Given the description of an element on the screen output the (x, y) to click on. 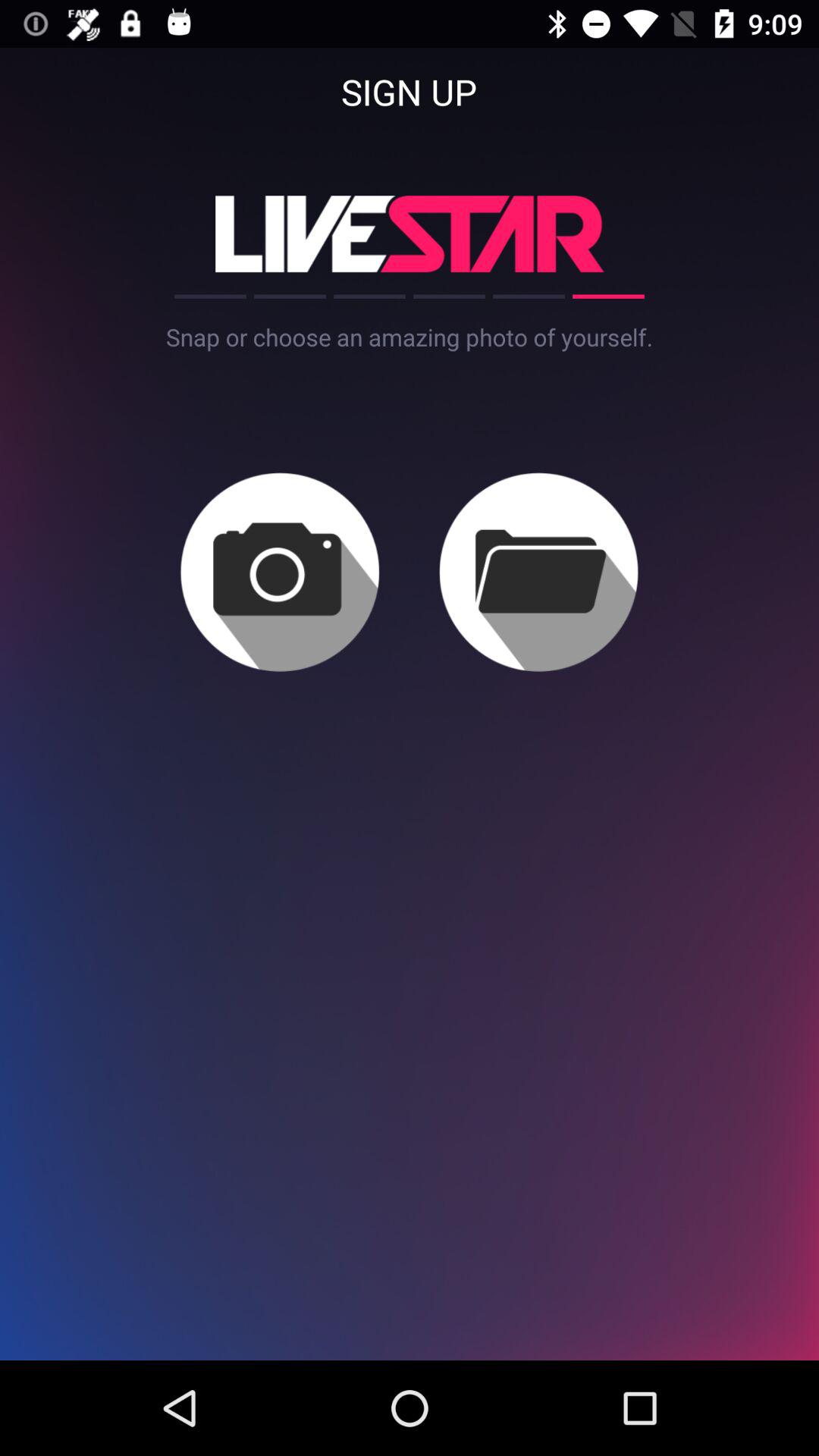
add photo option (279, 571)
